Given the description of an element on the screen output the (x, y) to click on. 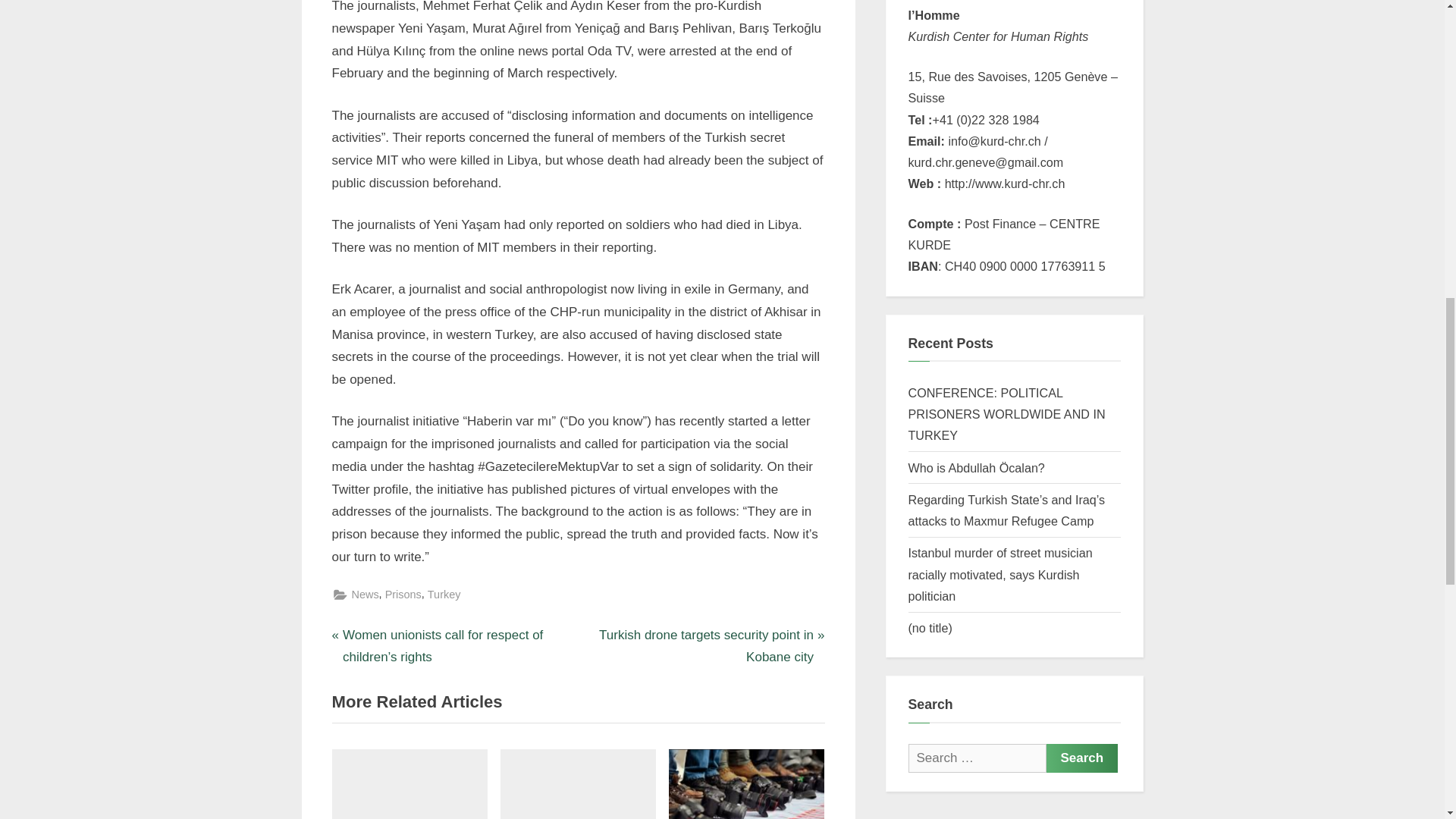
Search (1082, 758)
News (365, 594)
HRW: Turkey stops registering Syrian asylum seekers (409, 784)
Turkey (444, 594)
80 journalists and media employees behind bars in Turkey (746, 784)
Prisons (403, 594)
Search (1082, 758)
